Given the description of an element on the screen output the (x, y) to click on. 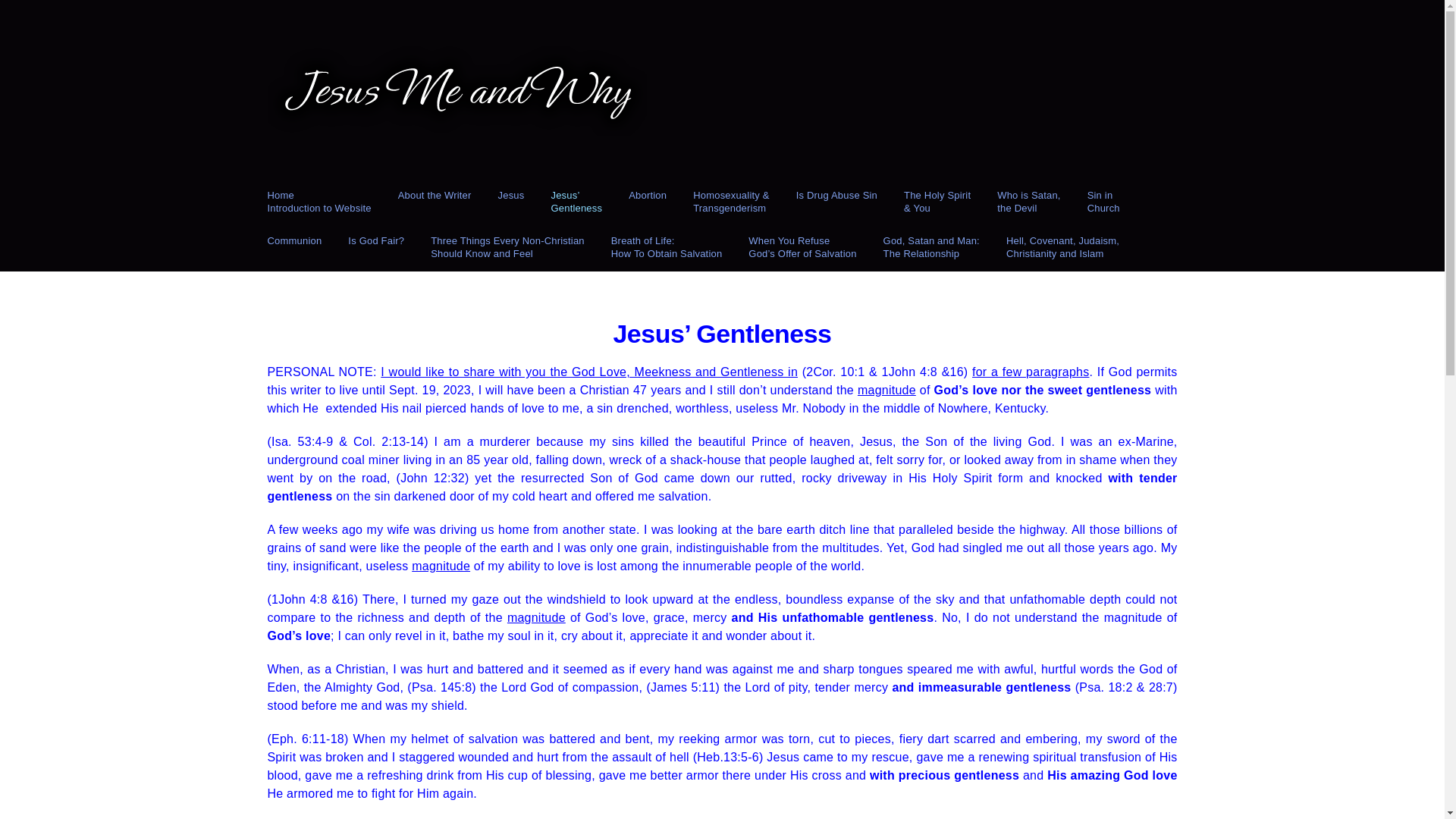
About the Writer (434, 202)
Is God Fair? (931, 248)
Is Drug Abuse Sin (1028, 202)
Communion (507, 248)
